Given the description of an element on the screen output the (x, y) to click on. 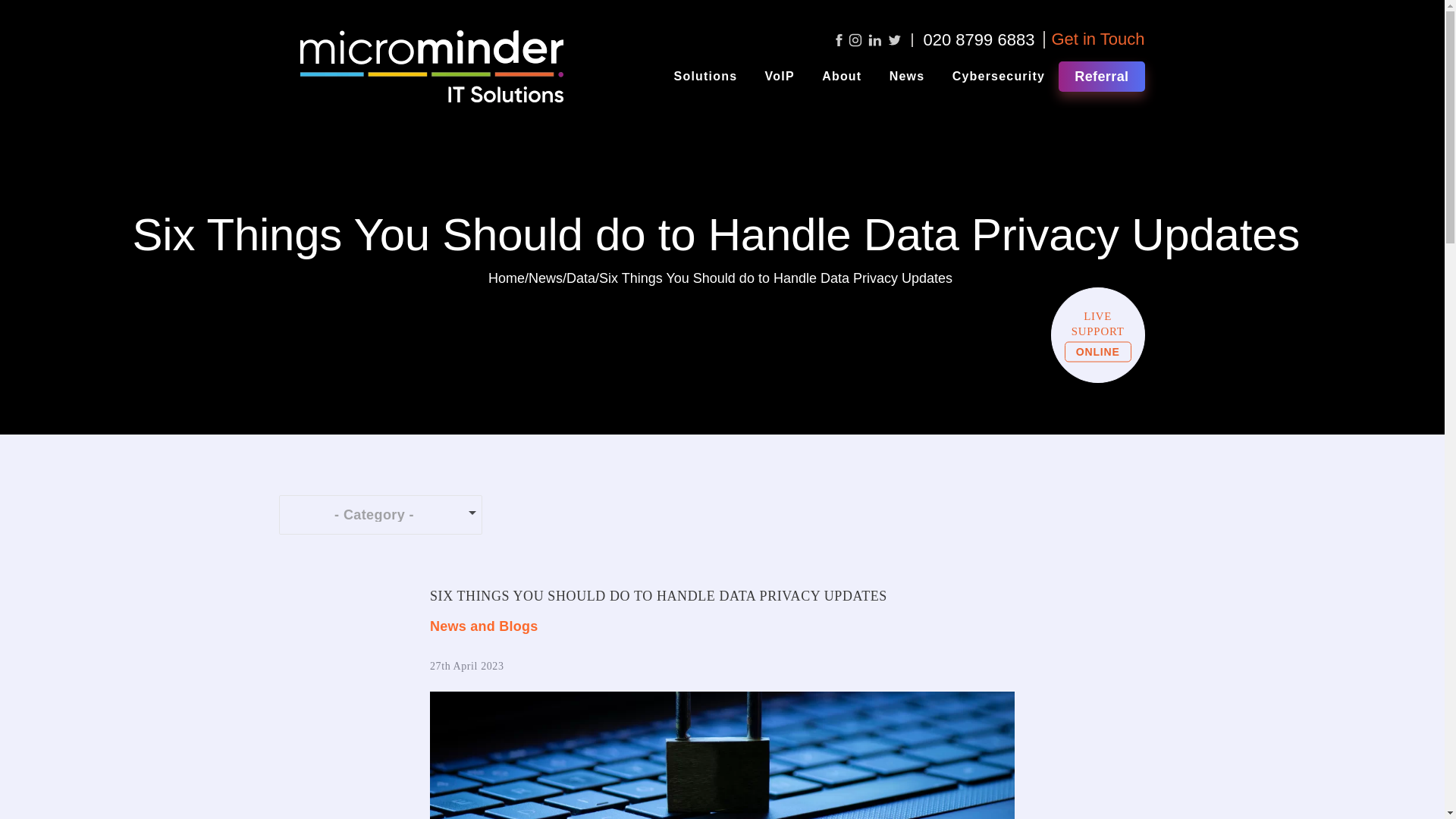
Get in Touch (1097, 38)
News (545, 277)
Microminder Cybersecurity (999, 76)
VoIP (779, 76)
Home (505, 277)
Solutions (705, 76)
Data (580, 277)
About (842, 76)
Referral (1101, 76)
Cybersecurity (999, 76)
ONLINE (1097, 352)
020 8799 6883 (979, 39)
News (907, 76)
